Given the description of an element on the screen output the (x, y) to click on. 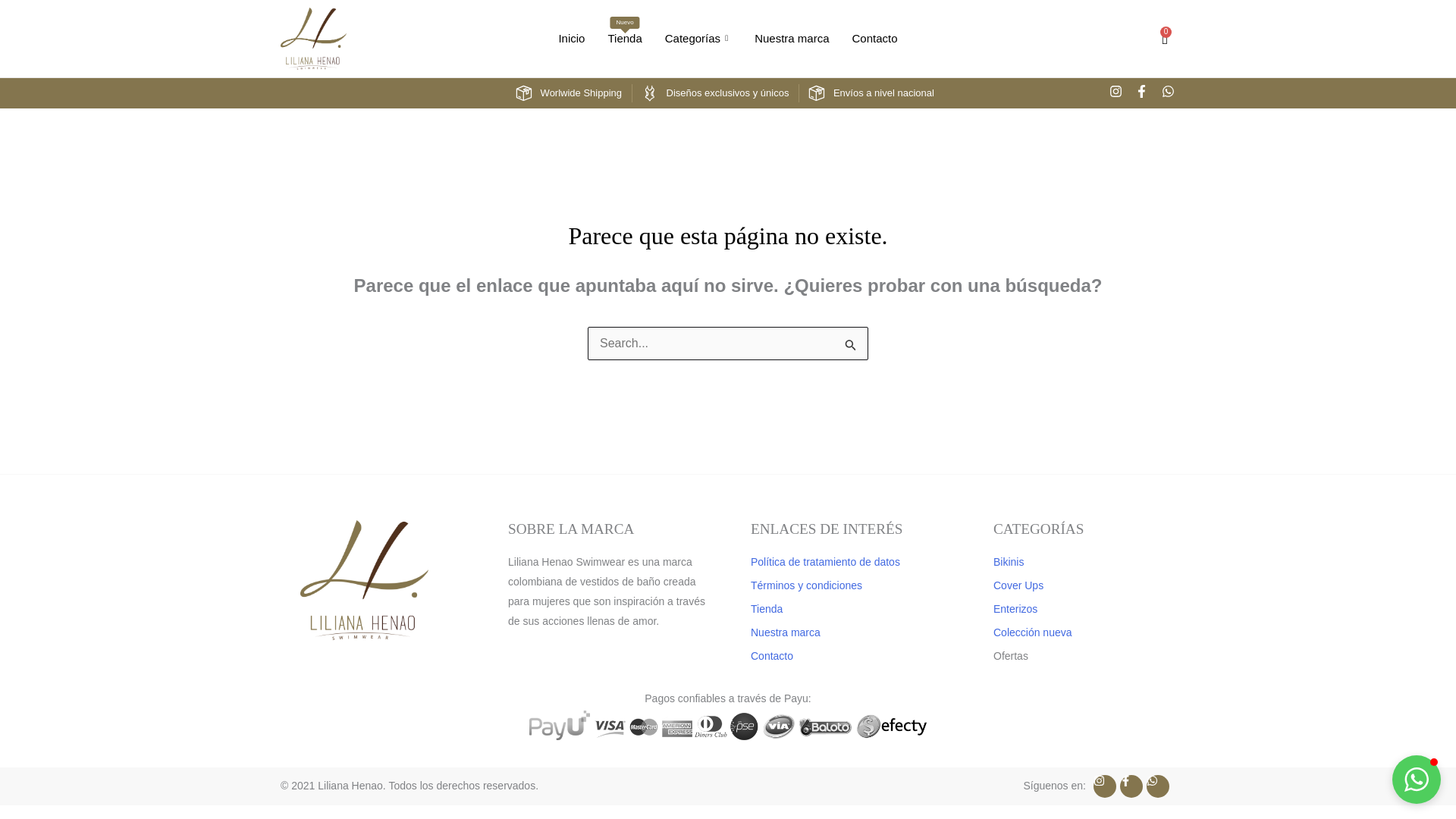
Contacto (623, 38)
Nuestra marca (874, 38)
Facebook-f (791, 38)
Instagram (1142, 92)
Inicio (1116, 92)
Whatsapp (571, 38)
